Given the description of an element on the screen output the (x, y) to click on. 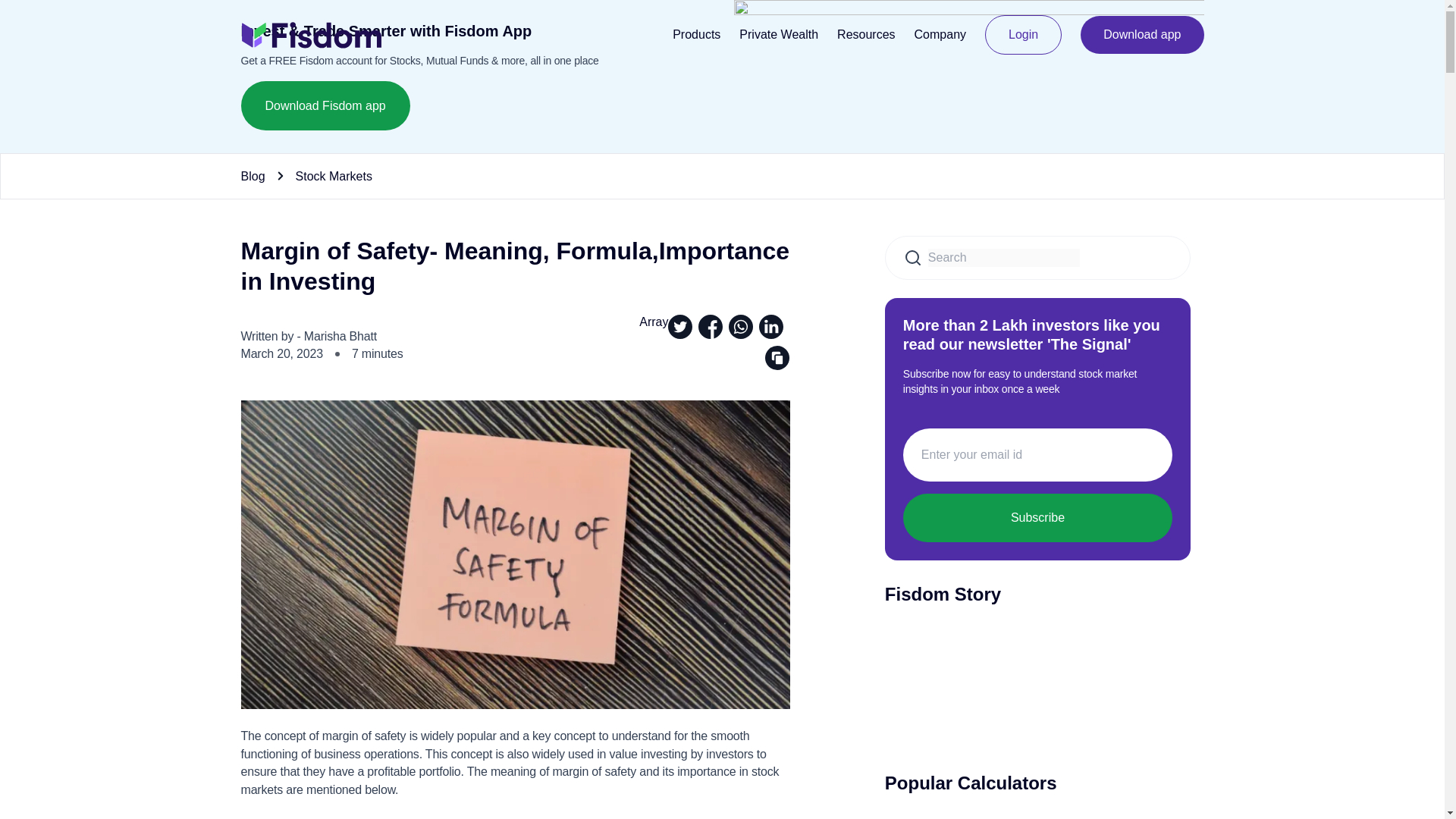
Blog (252, 175)
Login (1023, 34)
Download app (1142, 34)
Resources (866, 33)
Blog (252, 175)
Download Fisdom app (325, 105)
Stock Markets (333, 175)
Products (696, 33)
Private Wealth (778, 33)
Company (940, 33)
